Given the description of an element on the screen output the (x, y) to click on. 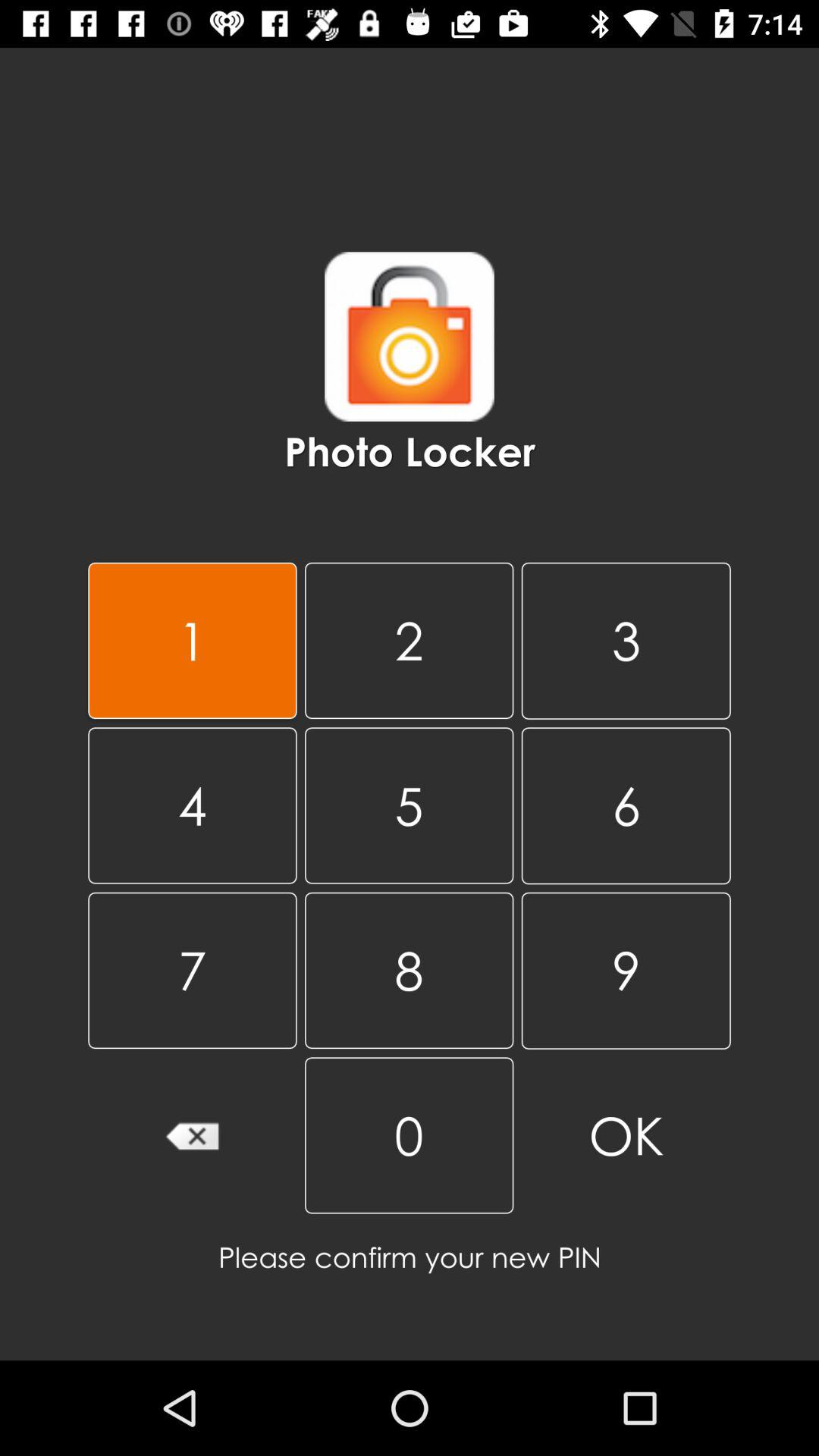
scroll to the 3 (625, 640)
